Given the description of an element on the screen output the (x, y) to click on. 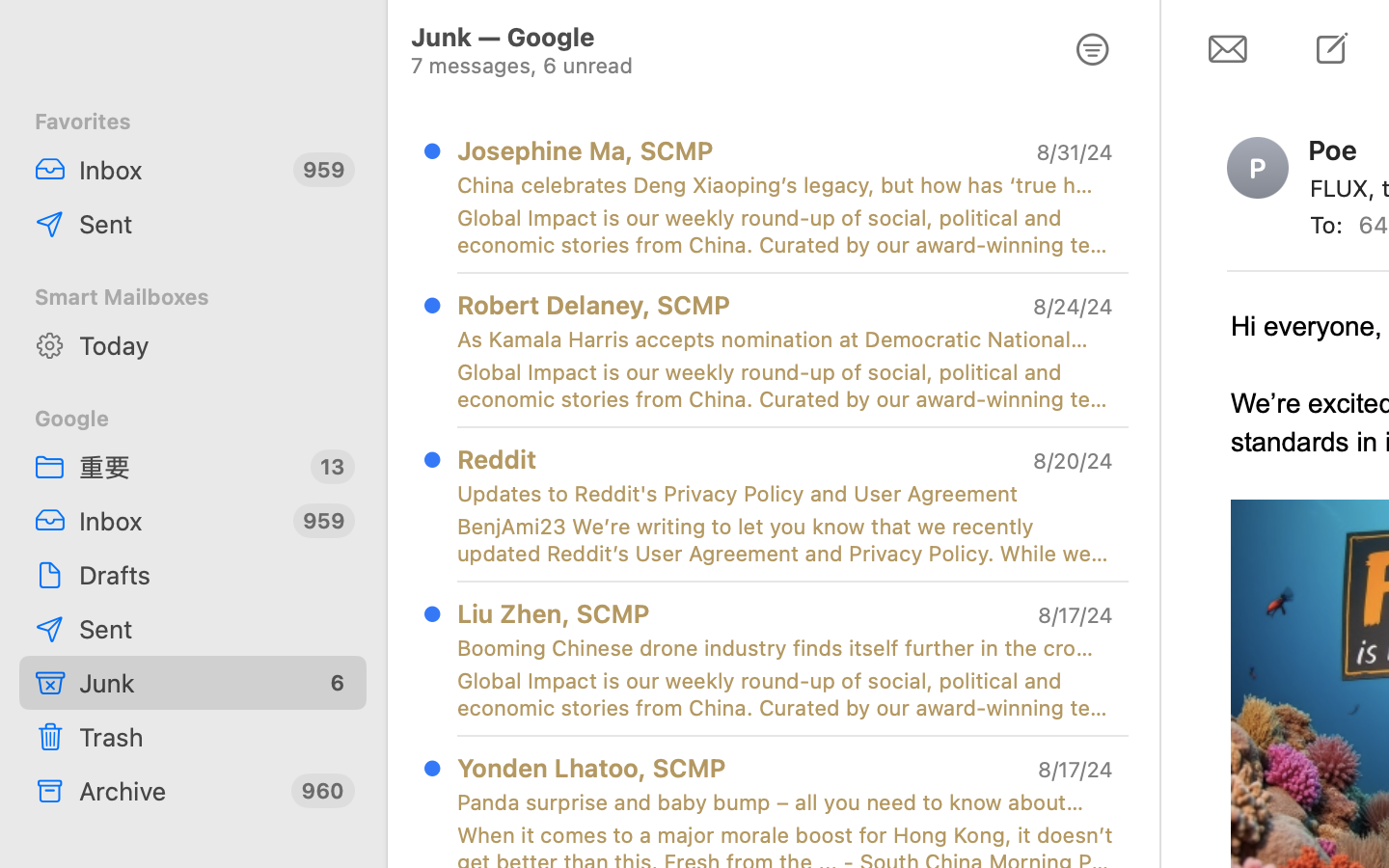
Reddit Element type: AXStaticText (496, 458)
Poe Element type: AXStaticText (1340, 149)
Favorites Element type: AXStaticText (192, 121)
Hi everyone, Element type: AXStaticText (1306, 325)
Archive Element type: AXStaticText (177, 790)
